Given the description of an element on the screen output the (x, y) to click on. 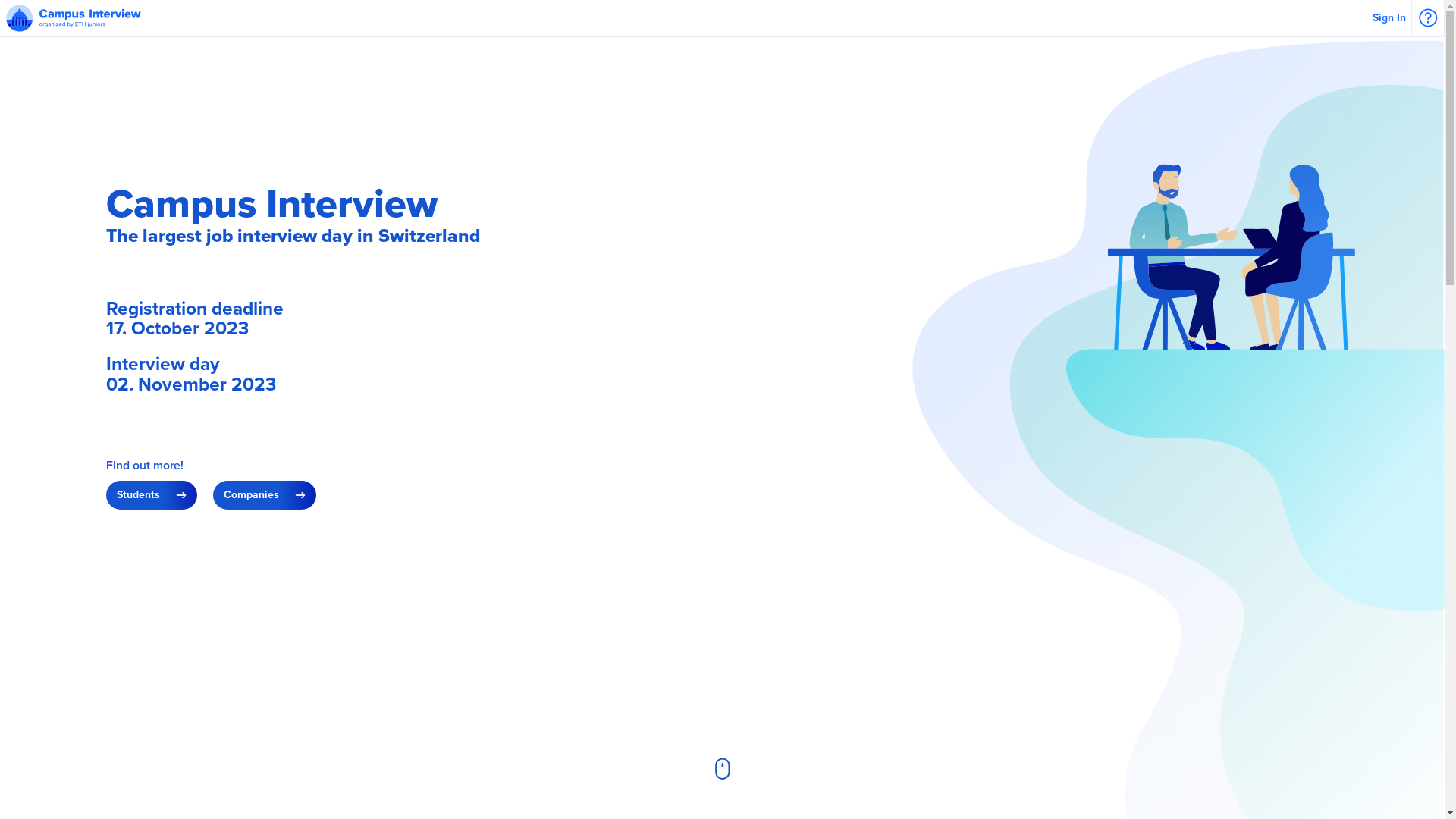
Sign In Element type: text (1388, 18)
Companies Element type: text (264, 495)
Students Element type: text (151, 495)
